Given the description of an element on the screen output the (x, y) to click on. 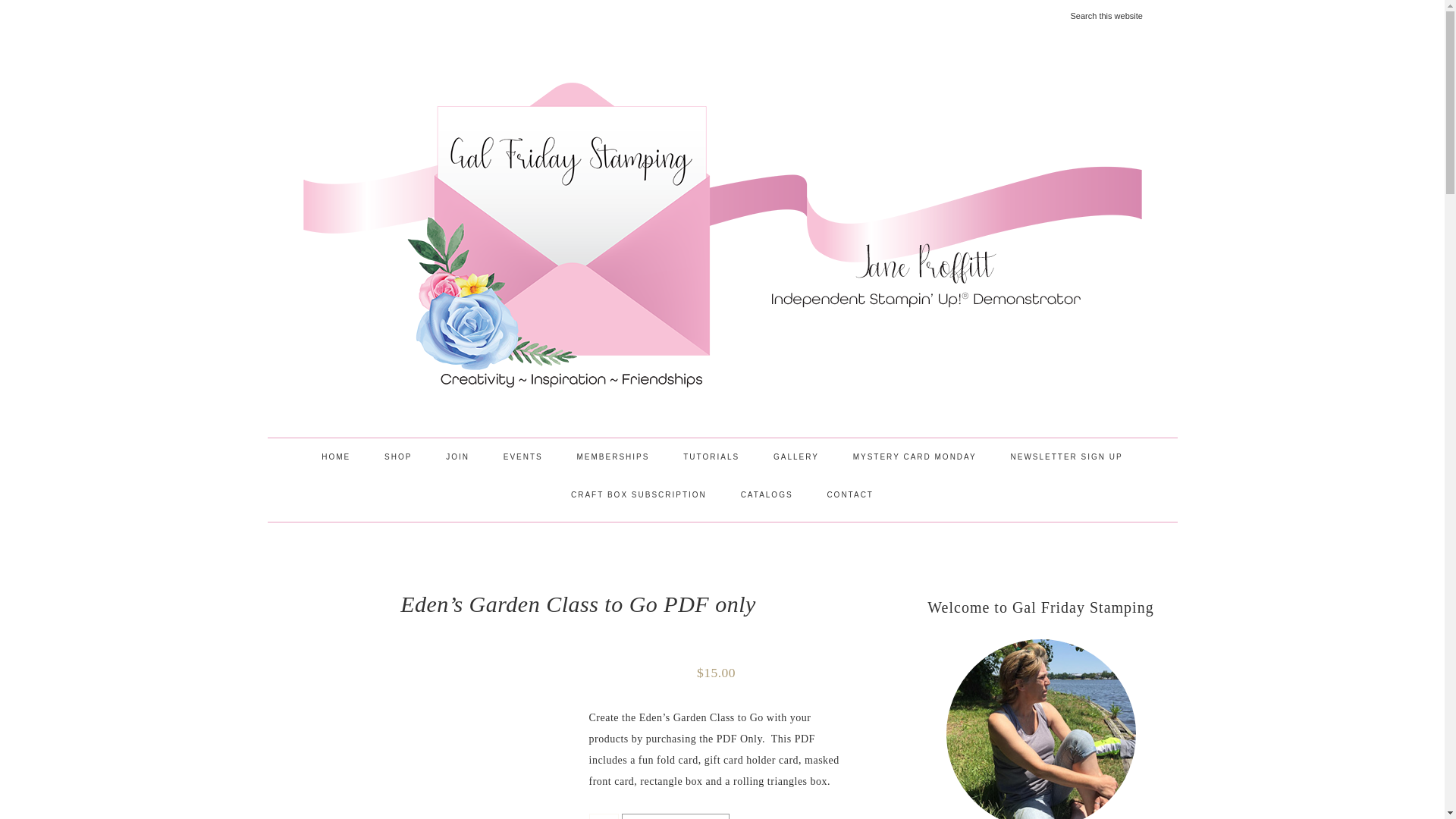
EVENTS (522, 456)
TUTORIALS (711, 456)
CONTACT (849, 494)
MYSTERY CARD MONDAY (914, 456)
HOME (335, 456)
NEWSLETTER SIGN UP (1065, 456)
ADD TO CART (675, 816)
CATALOGS (766, 494)
SHOP (397, 456)
